Given the description of an element on the screen output the (x, y) to click on. 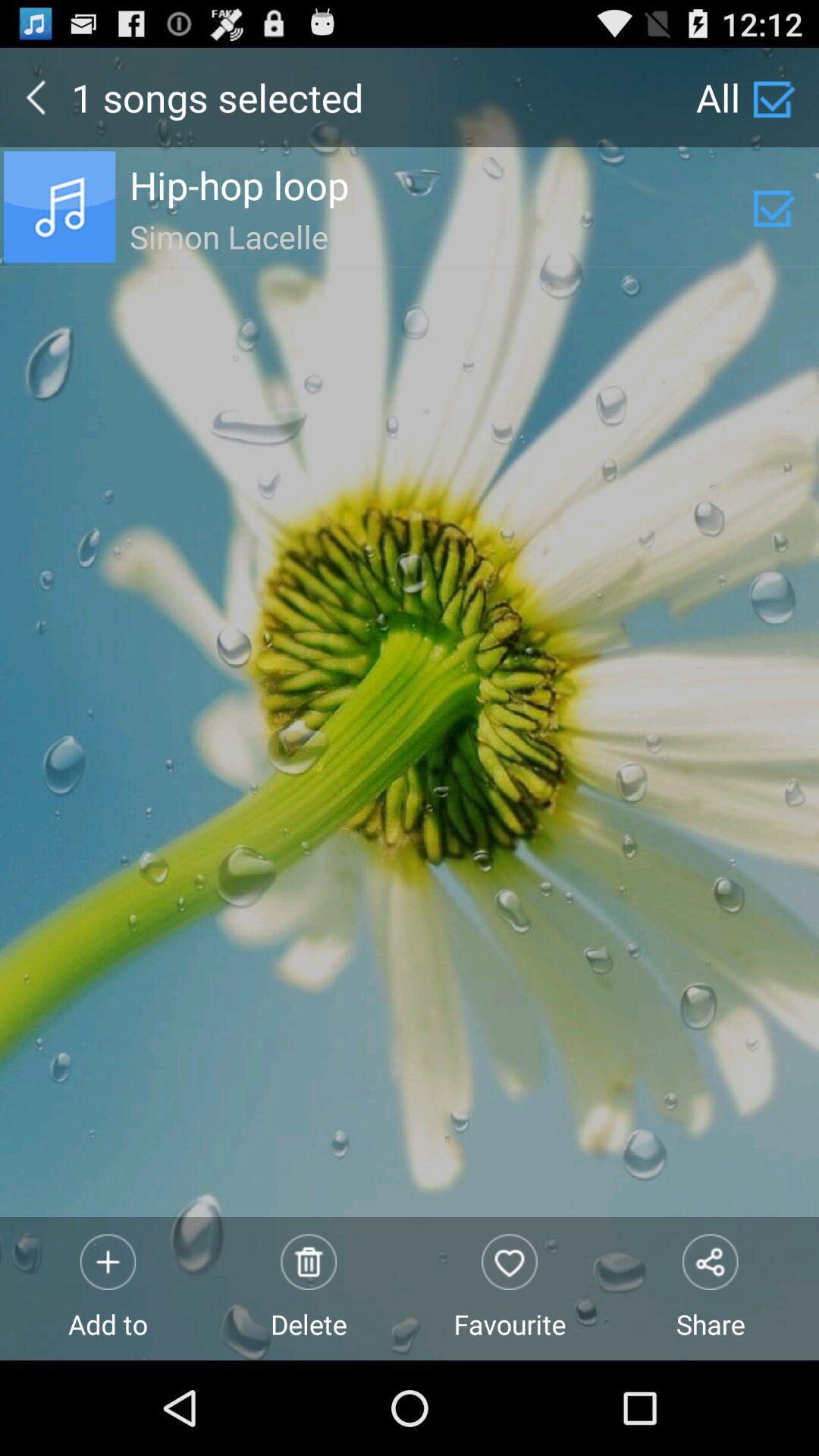
jump until the delete app (308, 1288)
